Given the description of an element on the screen output the (x, y) to click on. 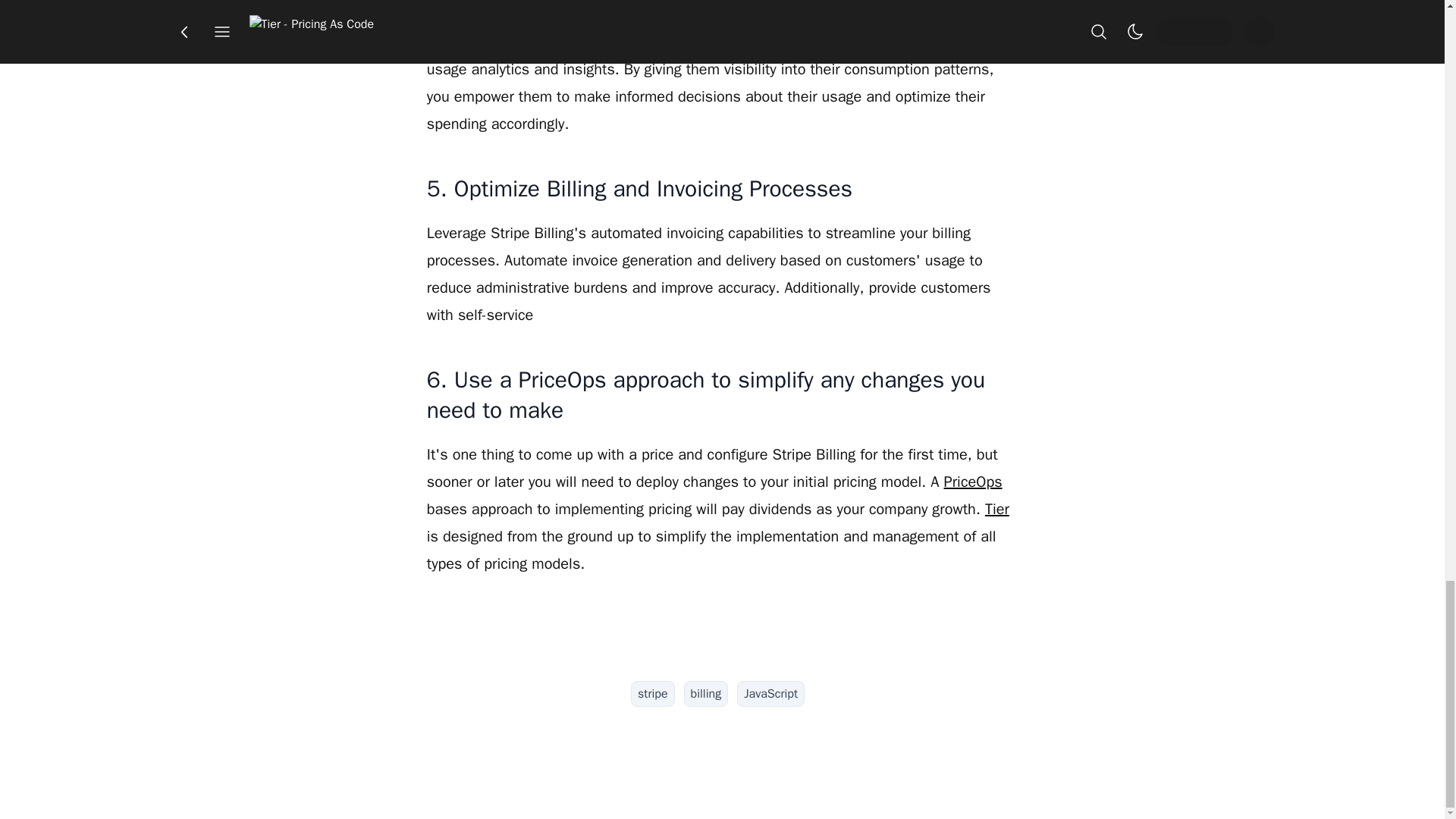
Tier (997, 508)
PriceOps (973, 481)
stripe (652, 693)
billing (706, 693)
JavaScript (770, 693)
